Given the description of an element on the screen output the (x, y) to click on. 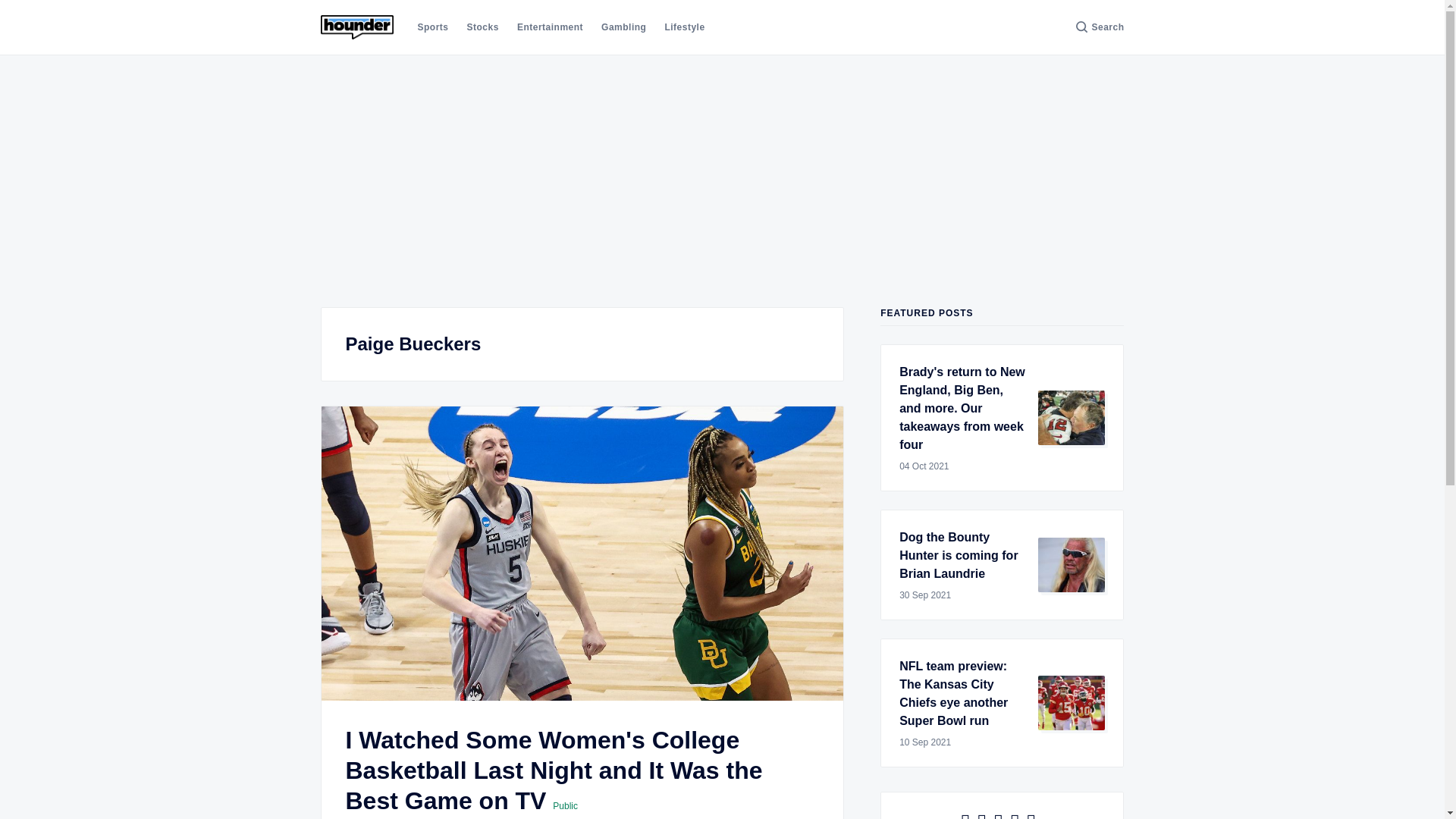
Search (1099, 27)
Entertainment (549, 27)
04 October 2021 (962, 466)
Lifestyle (683, 27)
10 September 2021 (962, 742)
Sports (432, 27)
30 September 2021 (962, 594)
Stocks (483, 27)
Gambling (623, 27)
